Given the description of an element on the screen output the (x, y) to click on. 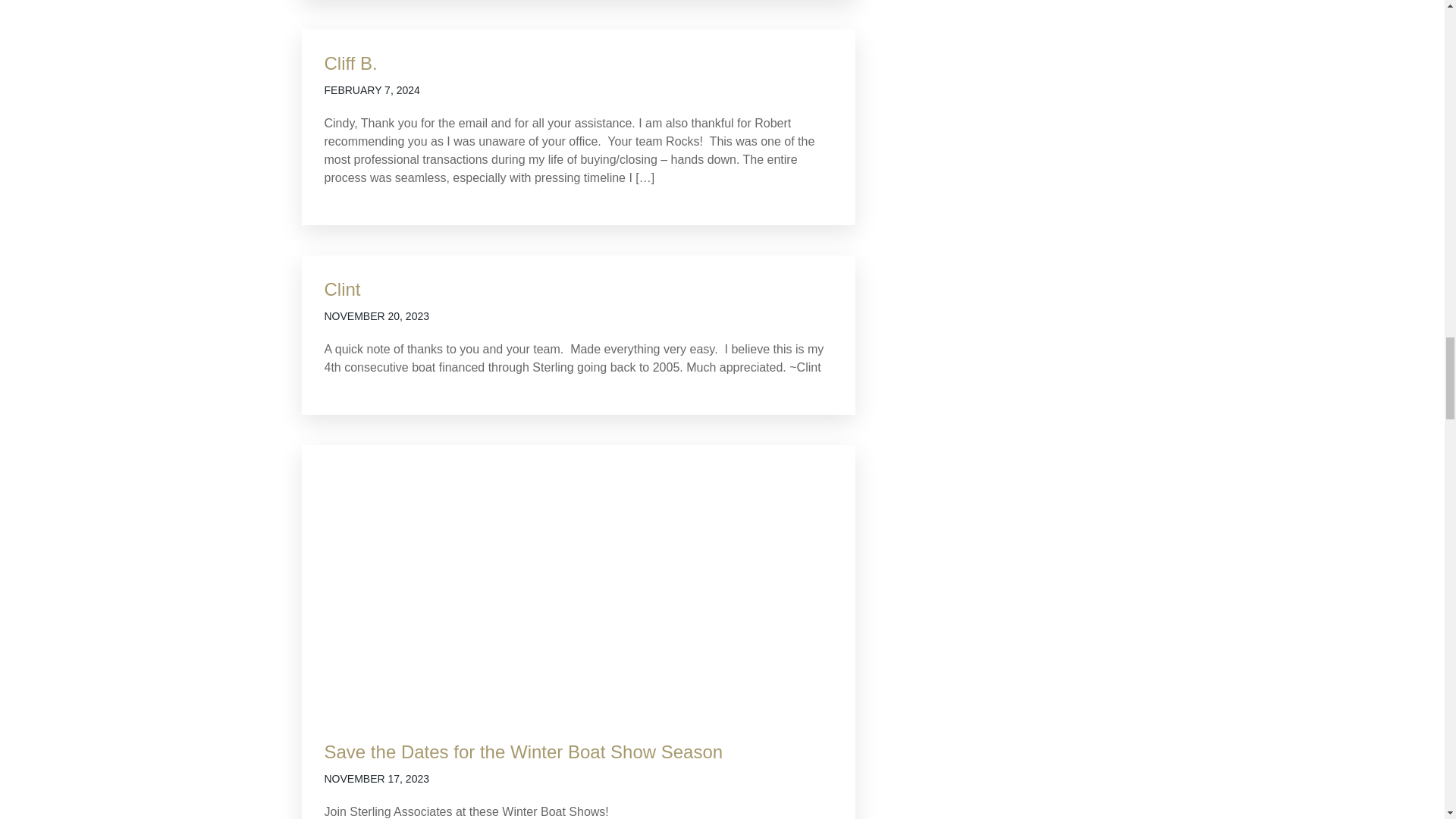
Cliff B. (350, 63)
Save the Dates for the Winter Boat Show Season (523, 752)
Clint (342, 289)
